Given the description of an element on the screen output the (x, y) to click on. 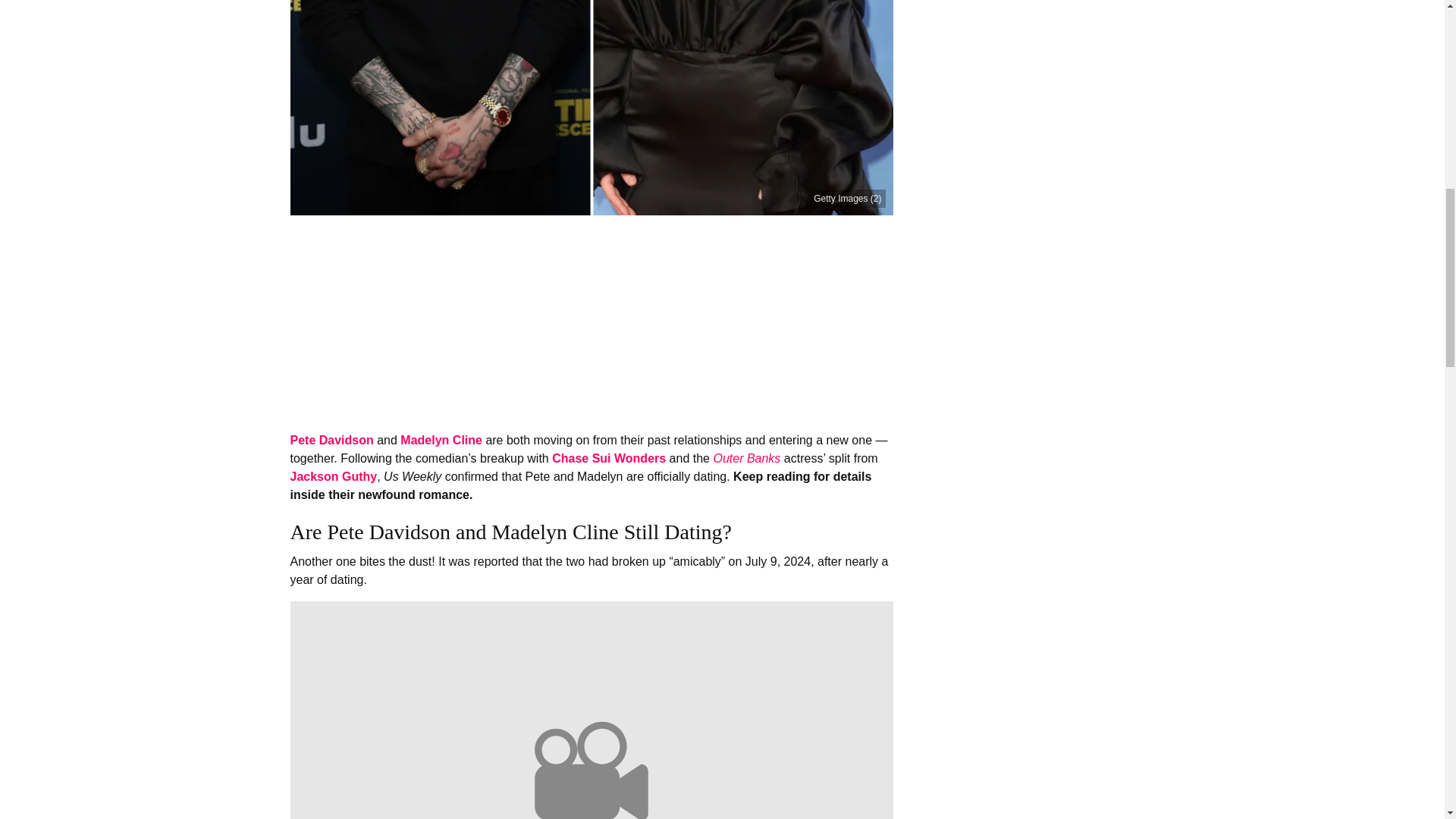
Jackson Guthy (333, 476)
Chase Sui Wonders (608, 458)
Pete Davidson (330, 440)
Outer Banks (746, 458)
Madelyn Cline (440, 440)
